Given the description of an element on the screen output the (x, y) to click on. 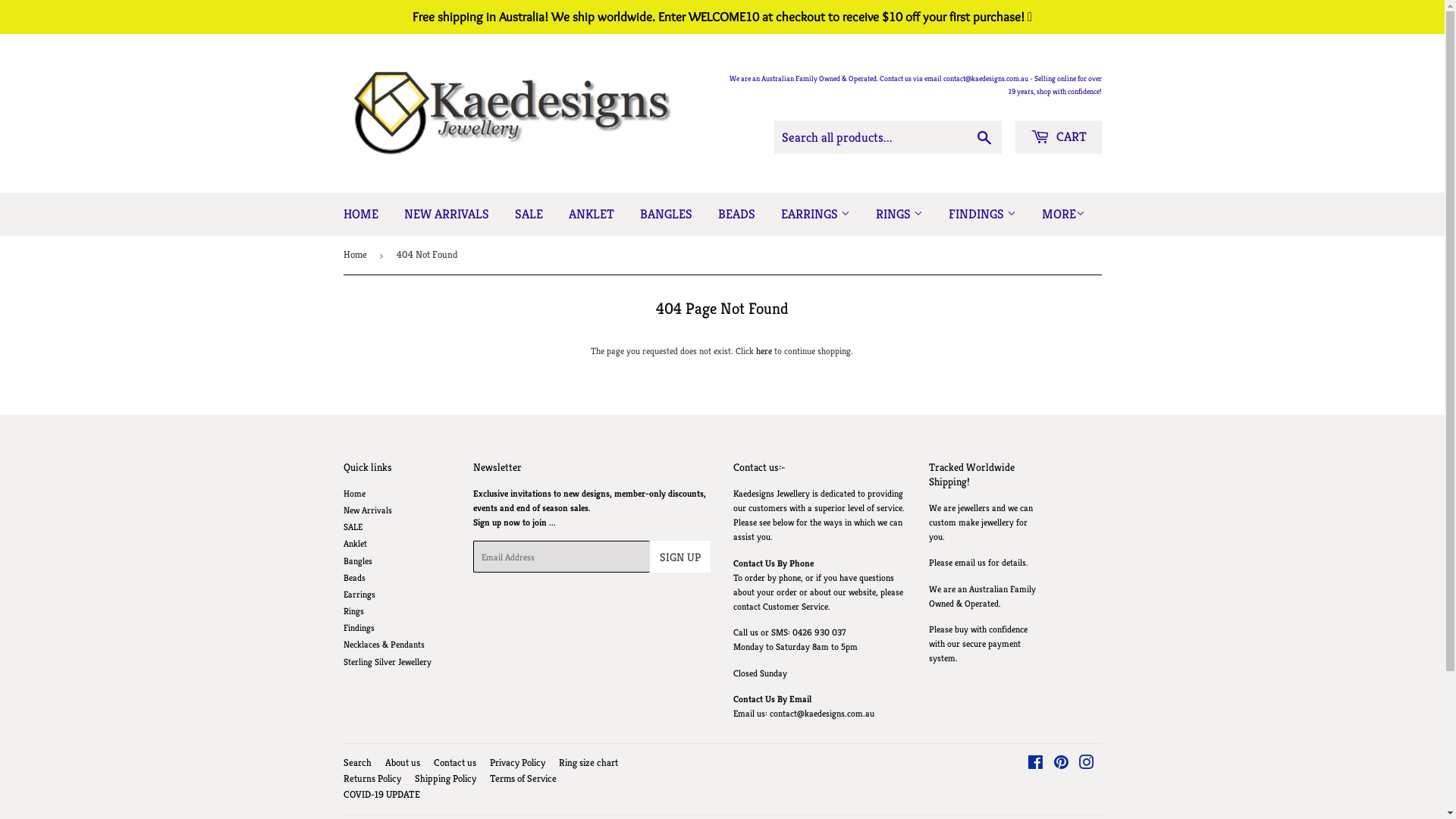
HOME Element type: text (360, 213)
SIGN UP Element type: text (679, 556)
Home Element type: text (356, 254)
Privacy Policy Element type: text (517, 762)
here Element type: text (763, 350)
Earrings Element type: text (358, 593)
SALE Element type: text (351, 526)
BEADS Element type: text (736, 213)
CART Element type: text (1057, 136)
EARRINGS Element type: text (814, 213)
Instagram Element type: text (1085, 764)
Search Element type: text (356, 762)
Terms of Service Element type: text (522, 777)
  Element type: text (722, 17)
Shipping Policy Element type: text (444, 777)
SALE Element type: text (528, 213)
Anklet Element type: text (354, 543)
Home Element type: text (353, 492)
RINGS Element type: text (899, 213)
MORE Element type: text (1062, 213)
Beads Element type: text (353, 577)
COVID-19 UPDATE Element type: text (380, 793)
Rings Element type: text (352, 610)
NEW ARRIVALS Element type: text (446, 213)
Necklaces & Pendants Element type: text (382, 643)
Pinterest Element type: text (1060, 764)
ANKLET Element type: text (590, 213)
Bangles Element type: text (356, 560)
Contact us Element type: text (454, 762)
Findings Element type: text (357, 627)
BANGLES Element type: text (664, 213)
About us Element type: text (402, 762)
FINDINGS Element type: text (982, 213)
Search Element type: text (984, 137)
Facebook Element type: text (1034, 764)
Sterling Silver Jewellery Element type: text (386, 661)
Returns Policy Element type: text (371, 777)
New Arrivals Element type: text (366, 509)
Ring size chart Element type: text (587, 762)
